Given the description of an element on the screen output the (x, y) to click on. 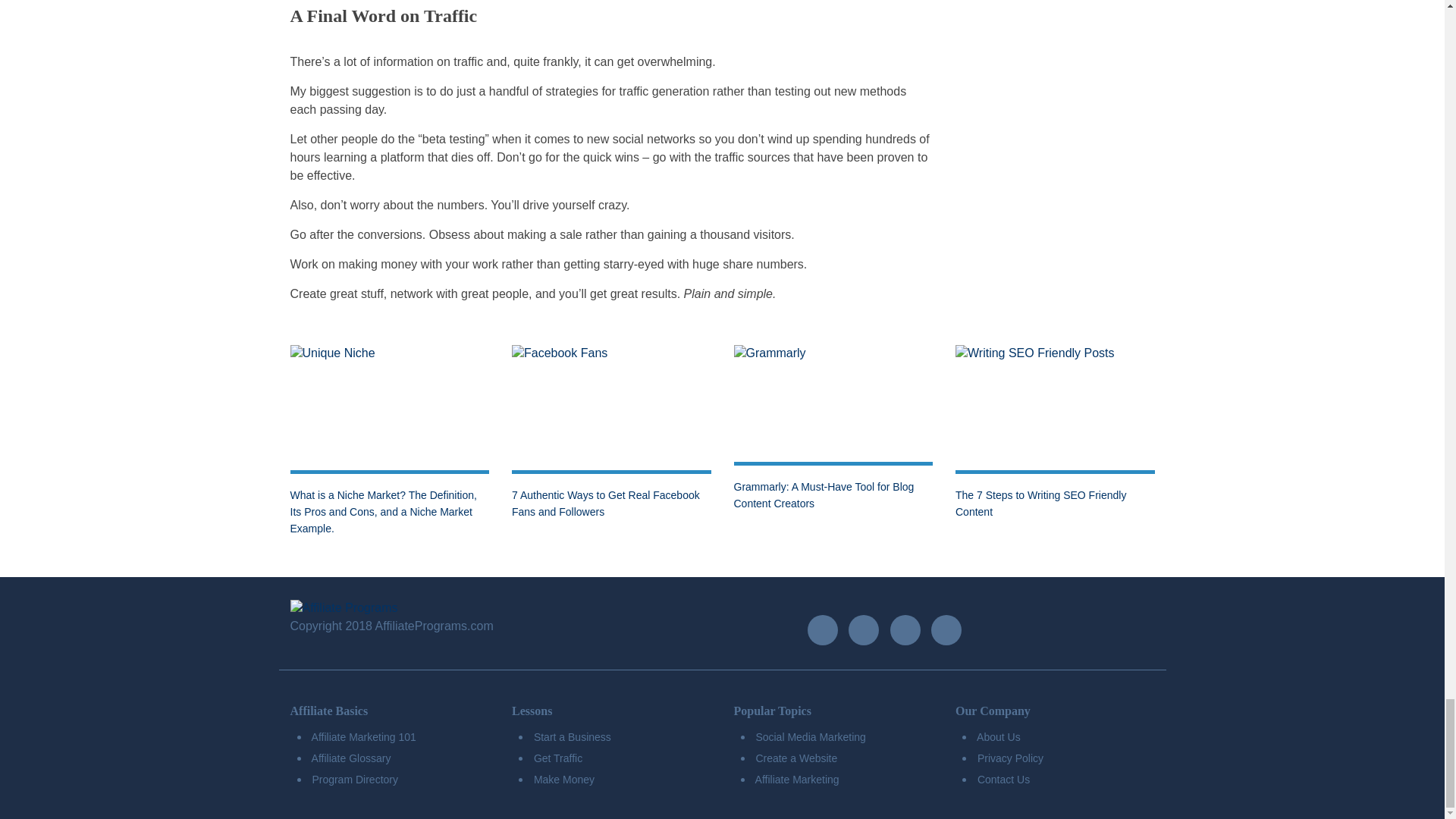
Grammarly: A Must-Have Tool for Blog Content Creators (823, 494)
7 Authentic Ways to Get Real Facebook Fans and Followers (606, 502)
